Given the description of an element on the screen output the (x, y) to click on. 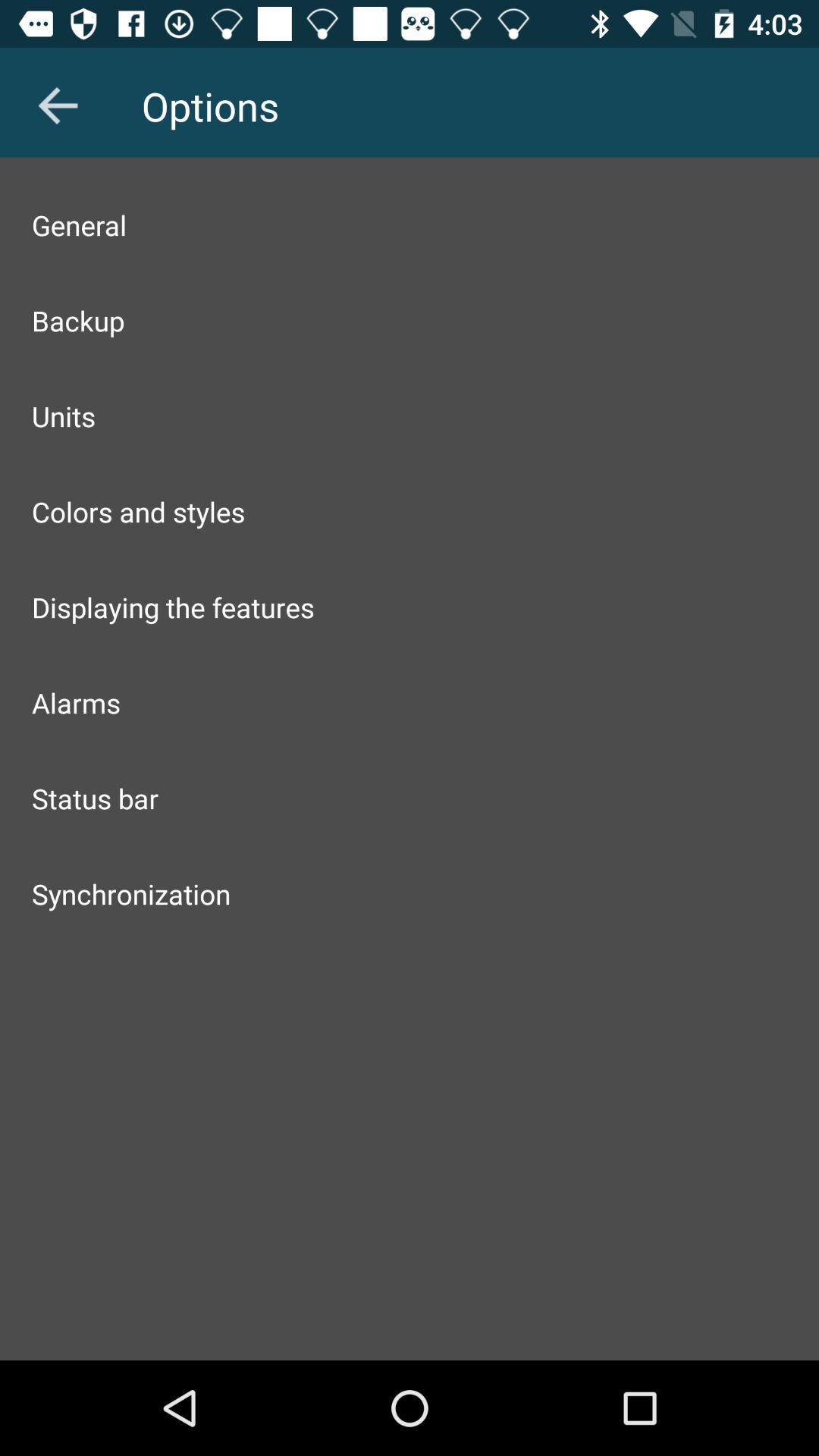
tap the icon next to options item (57, 105)
